Given the description of an element on the screen output the (x, y) to click on. 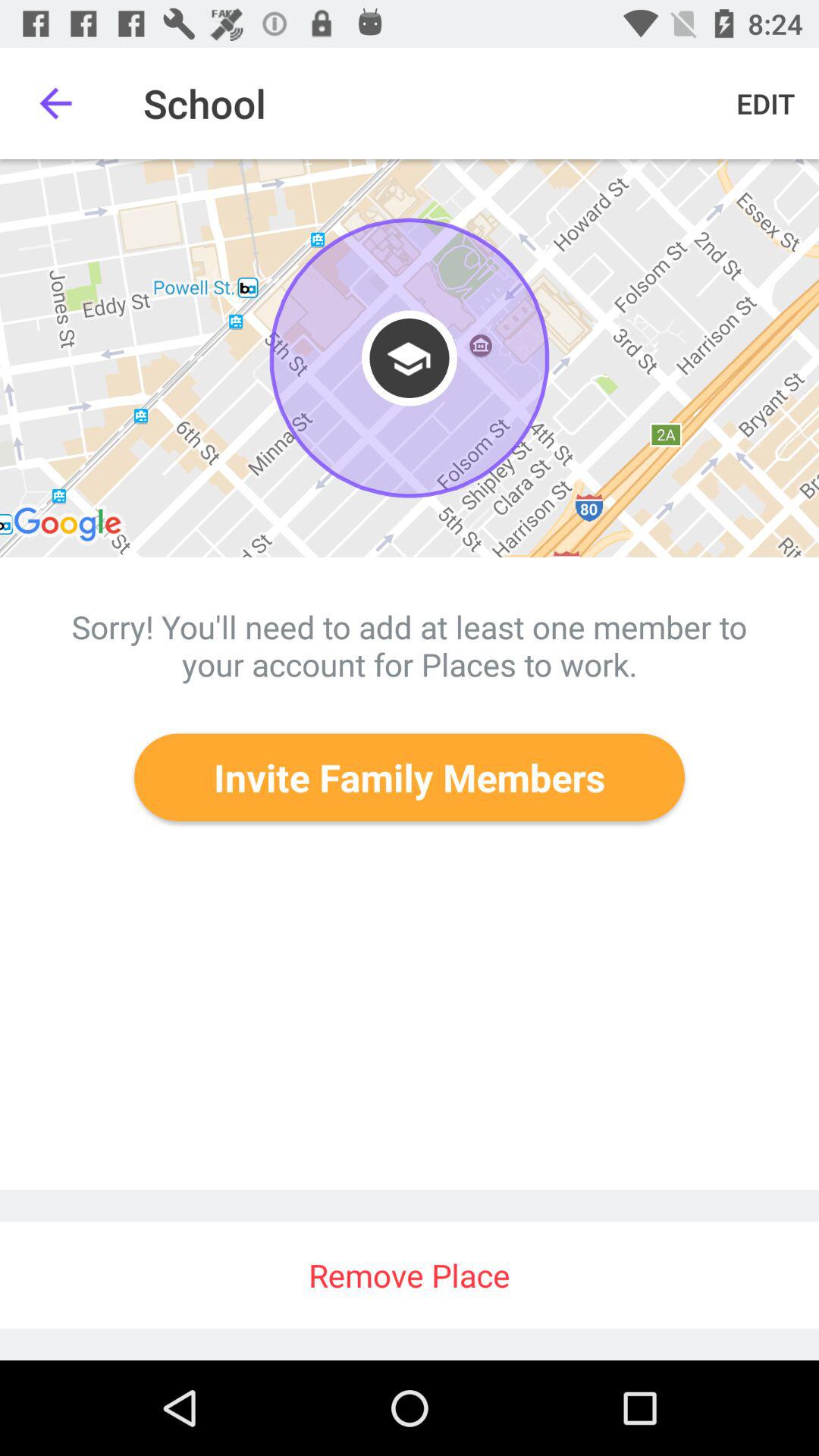
open item above the sorry you ll item (409, 358)
